Given the description of an element on the screen output the (x, y) to click on. 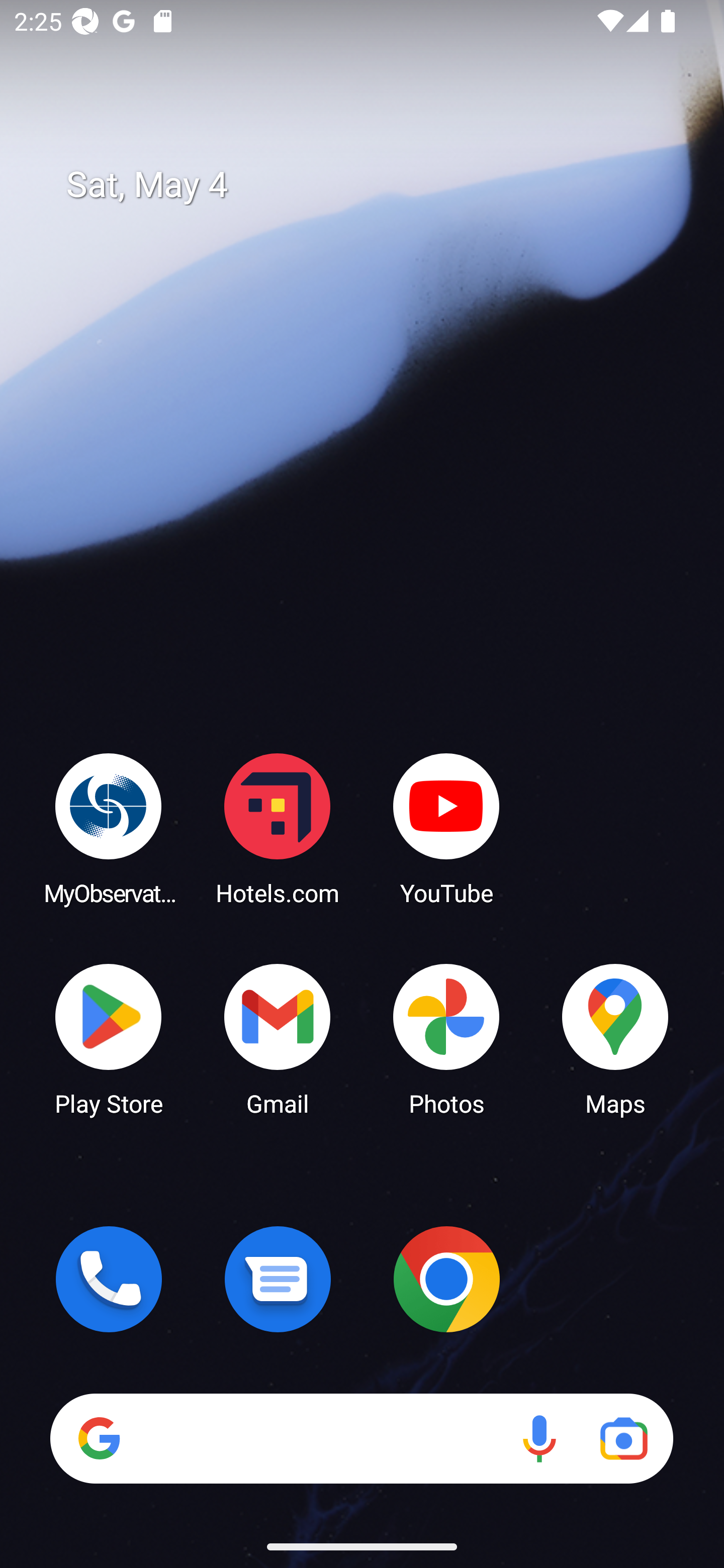
Sat, May 4 (375, 184)
MyObservatory (108, 828)
Hotels.com (277, 828)
YouTube (445, 828)
Play Store (108, 1038)
Gmail (277, 1038)
Photos (445, 1038)
Maps (615, 1038)
Phone (108, 1279)
Messages (277, 1279)
Chrome (446, 1279)
Search Voice search Google Lens (361, 1438)
Voice search (539, 1438)
Google Lens (623, 1438)
